Given the description of an element on the screen output the (x, y) to click on. 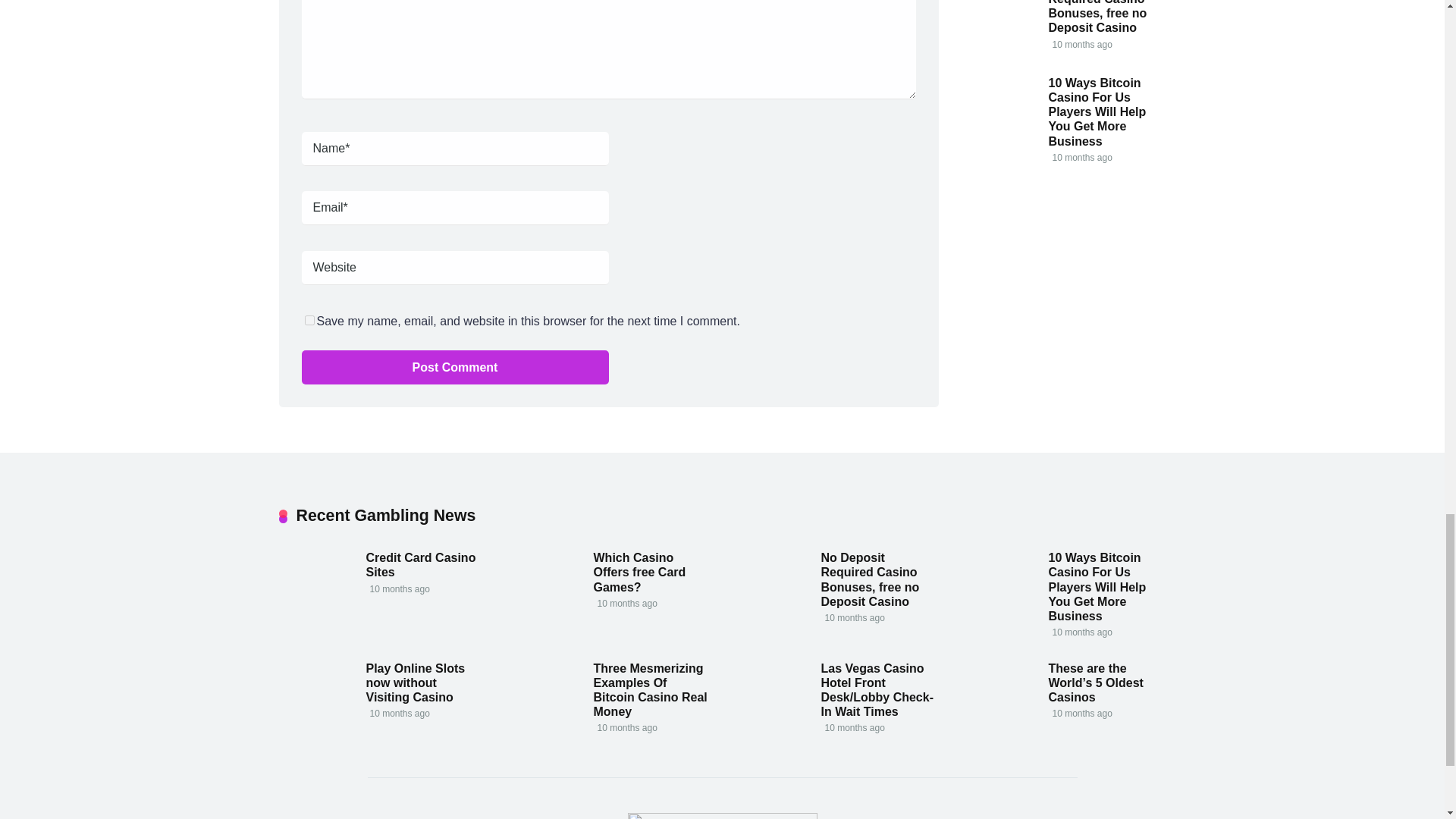
Three Mesmerizing Examples Of Bitcoin Casino Real Money (649, 689)
No Deposit Required Casino Bonuses, free no Deposit Casino (869, 580)
No Deposit Required Casino Bonuses, free no Deposit Casino (1097, 18)
yes (309, 320)
Play Online Slots now without Visiting Casino (414, 681)
Which Casino Offers free Card Games? (638, 572)
Post Comment (454, 367)
Post Comment (454, 367)
Credit Card Casino Sites (420, 565)
